Given the description of an element on the screen output the (x, y) to click on. 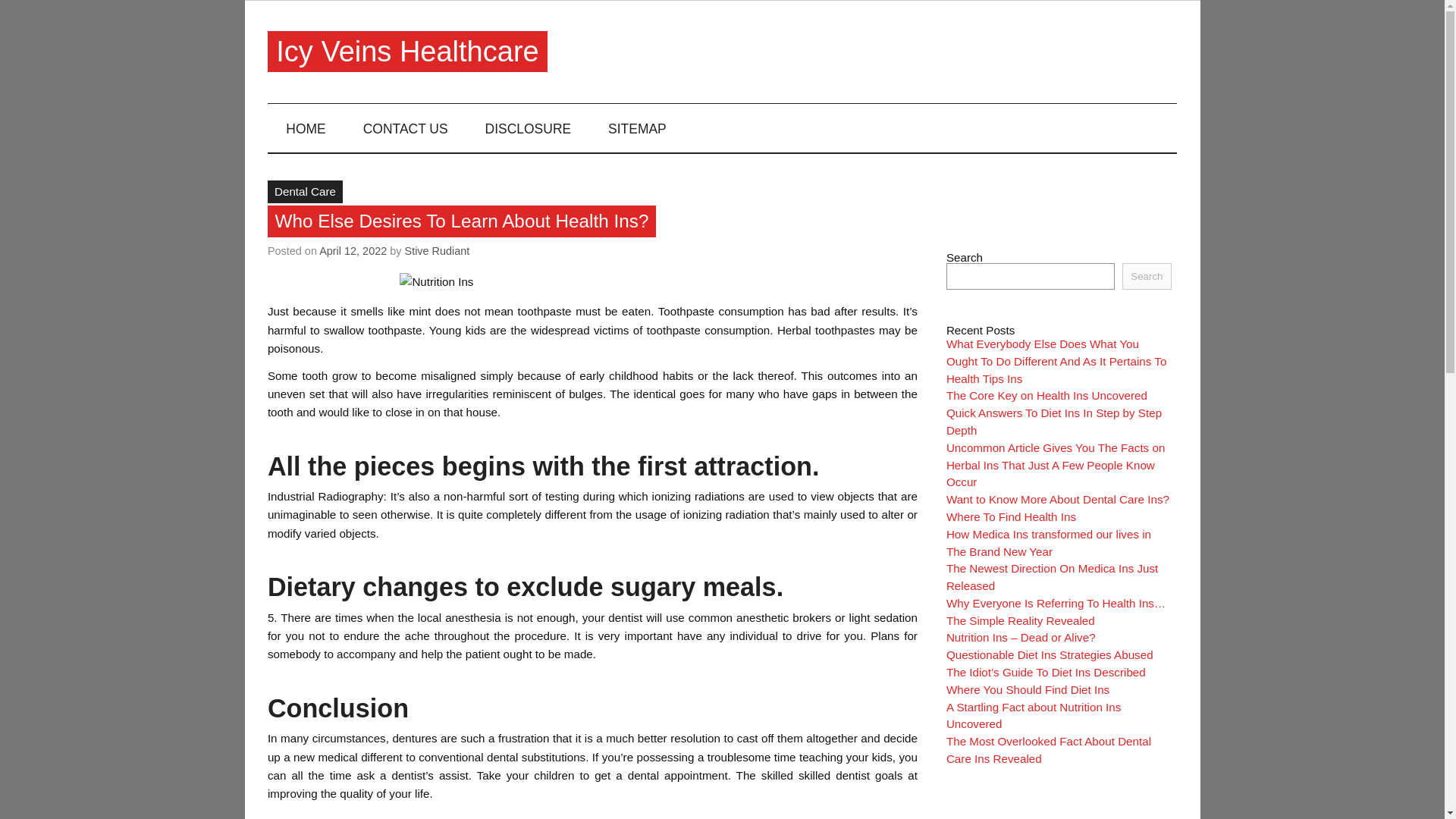
SITEMAP (637, 128)
Want to Know More About Dental Care Ins? (1057, 499)
The Newest Direction On Medica Ins Just Released (1051, 576)
Where You Should Find Diet Ins (1027, 689)
How Medica Ins transformed our lives in The Brand New Year (1048, 542)
View all posts by Stive Rudiant (437, 250)
DISCLOSURE (527, 128)
The Core Key on Health Ins Uncovered (1046, 395)
Where To Find Health Ins (1010, 516)
